Given the description of an element on the screen output the (x, y) to click on. 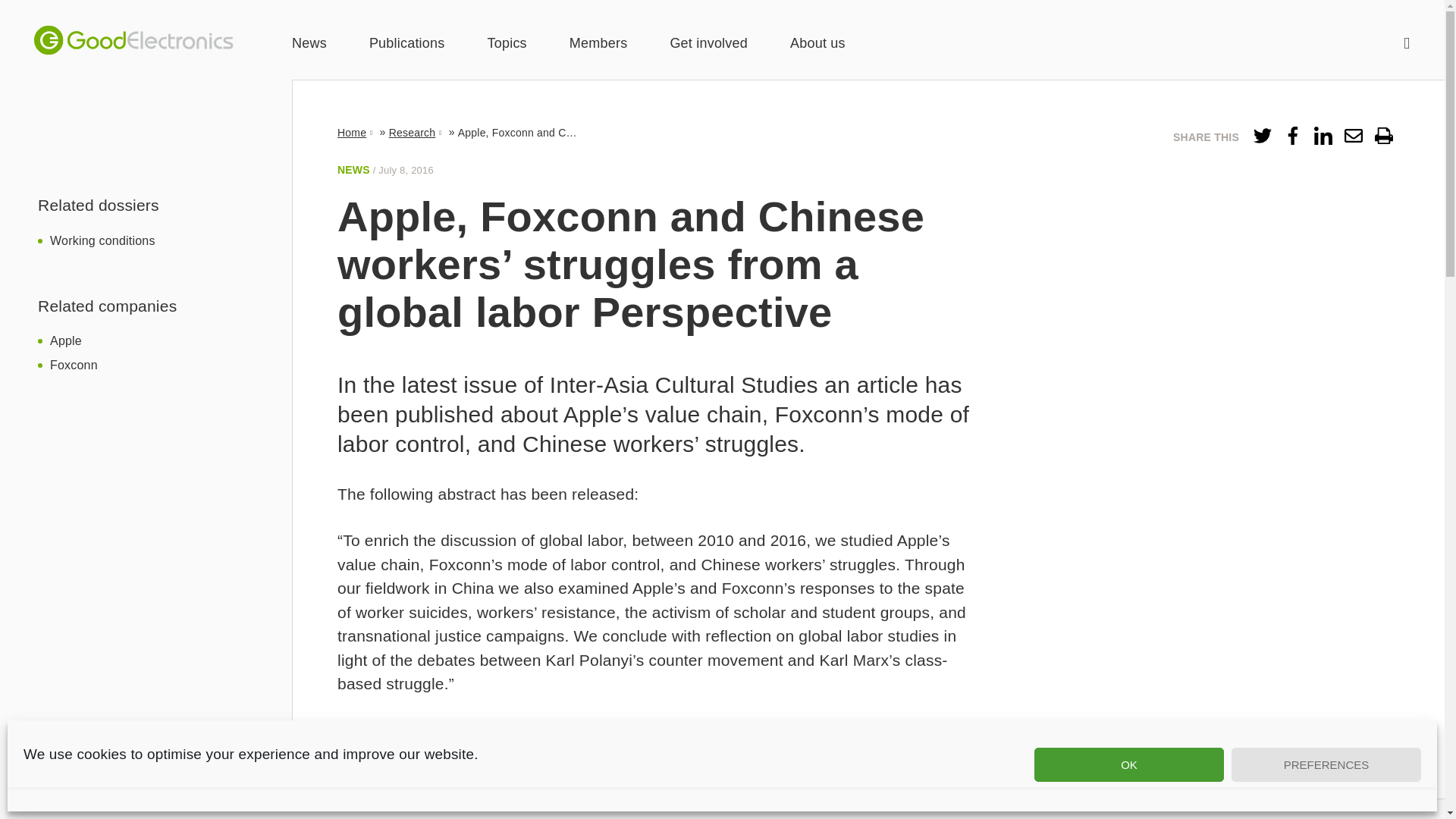
facebook Created with Sketch. (1292, 135)
Foxconn (73, 364)
PREFERENCES (1326, 764)
View all posts in Apple (65, 340)
ZOEK (1406, 42)
linkedin Created with Sketch. (1323, 135)
Publications (407, 43)
print Created with Sketch. (1383, 135)
Working conditions (102, 239)
Get involved (708, 43)
twitter Created with Sketch. (1262, 135)
email Created with Sketch. (1352, 135)
View all posts in Foxconn (73, 364)
Members (598, 43)
Topics (507, 43)
